Given the description of an element on the screen output the (x, y) to click on. 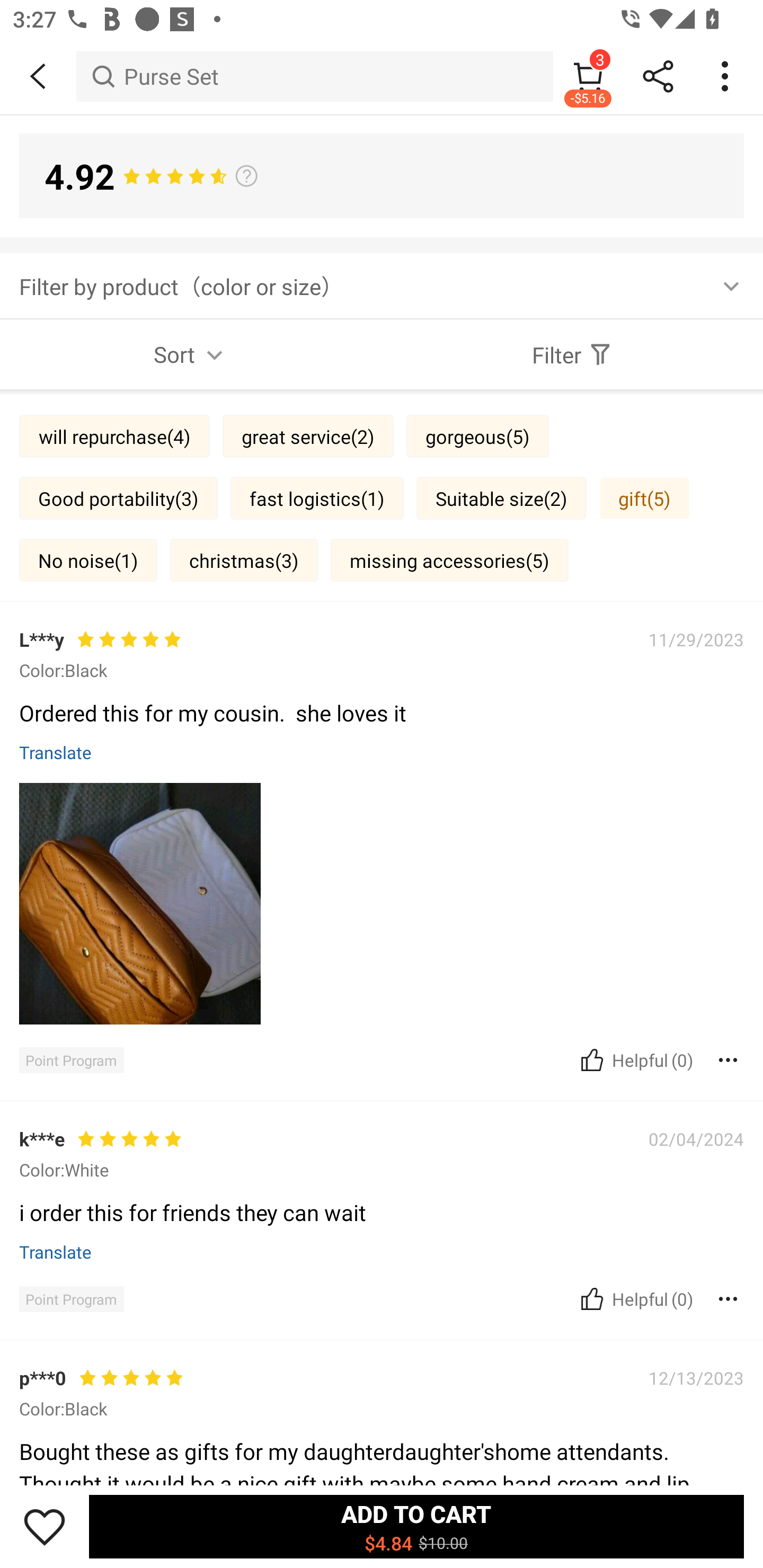
BACK (38, 75)
3 -$5.16 (588, 75)
Purse Set (314, 75)
Filter by product（color or size） (381, 285)
Sort (190, 353)
Filter (572, 353)
will repurchase(4) (114, 436)
great service(2) (307, 436)
gorgeous(5) (477, 436)
Good portability(3) (118, 497)
fast logistics(1) (316, 497)
Suitable size(2) (501, 497)
gift(5) (643, 497)
No noise(1) (88, 560)
christmas(3) (244, 560)
missing accessories(5) (449, 560)
View more (381, 662)
Reviews‎ (100‎+) View All 4.92 Average rating4.92 (381, 770)
Translate (55, 751)
Cancel Helpful Was this article helpful? (0) (634, 1059)
Point Program (71, 1059)
b***e Rating5.0 11/22/2023 Color:Black (381, 1202)
Translate (55, 1251)
Cancel Helpful Was this article helpful? (0) (634, 1298)
Point Program (71, 1298)
Point Program (71, 1408)
ADD TO CART $4.84 $10.00 (416, 1526)
Save (44, 1526)
